Given the description of an element on the screen output the (x, y) to click on. 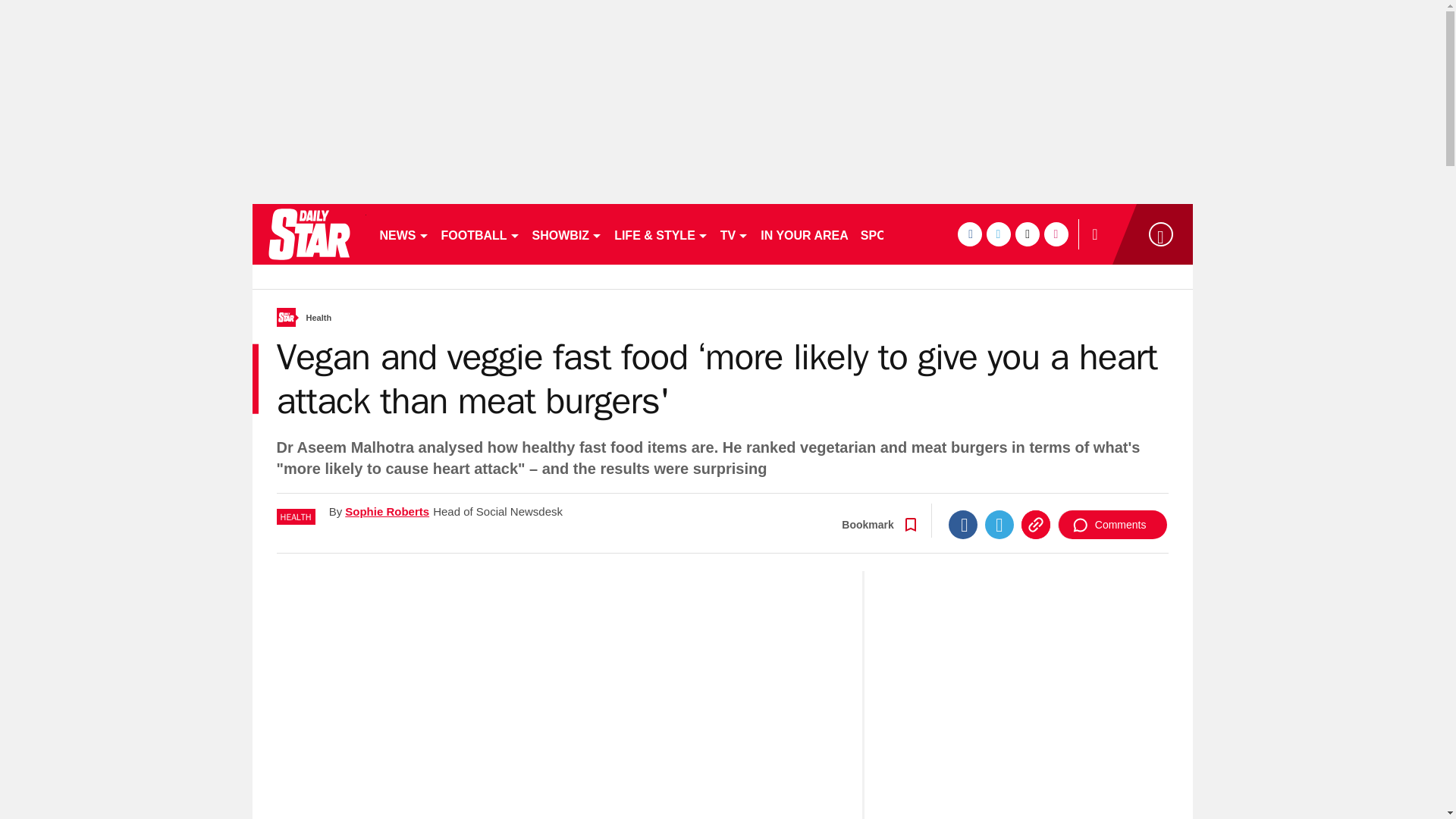
SHOWBIZ (566, 233)
Facebook (962, 524)
facebook (968, 233)
dailystar (308, 233)
Comments (1112, 524)
NEWS (402, 233)
Twitter (999, 524)
instagram (1055, 233)
twitter (997, 233)
FOOTBALL (480, 233)
